Given the description of an element on the screen output the (x, y) to click on. 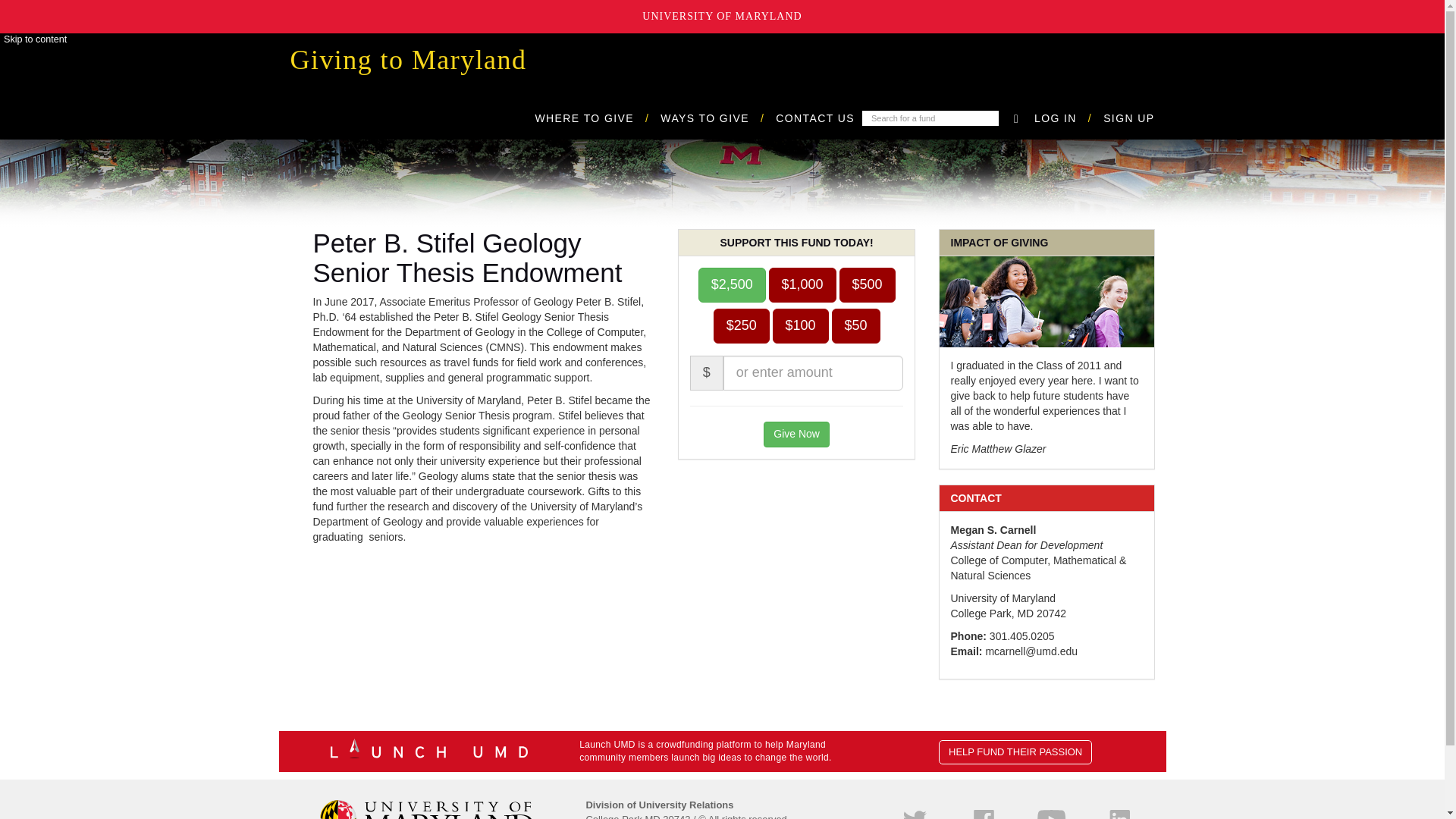
UNIVERSITY OF MARYLAND (722, 16)
Skip to content (35, 39)
HELP FUND THEIR PASSION (1015, 752)
SIGN UP (1128, 118)
Giving to Maryland (408, 59)
Give Now (795, 434)
CONTACT US (815, 118)
LOG IN (1068, 118)
Giving homepage link (408, 59)
WAYS TO GIVE (718, 118)
WHERE TO GIVE (598, 118)
